Given the description of an element on the screen output the (x, y) to click on. 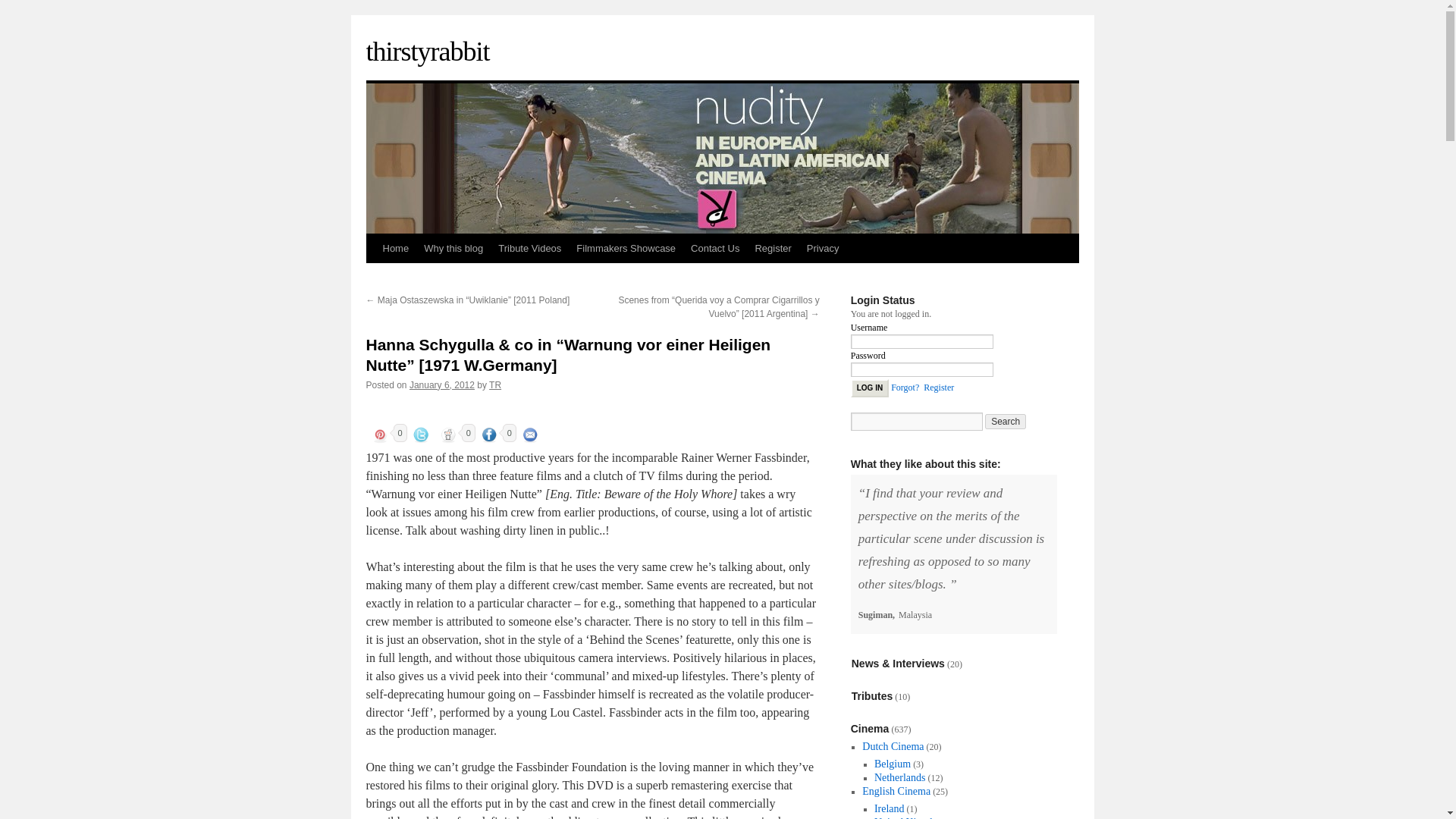
Why this blog (453, 248)
a showcase of independent filmmakers by thirstyrabbit (625, 248)
TR (494, 385)
thirstyrabbit (427, 51)
Pinterest (379, 434)
Facebook (489, 434)
Home (395, 248)
January 6, 2012 (441, 385)
View all posts by TR (494, 385)
